Given the description of an element on the screen output the (x, y) to click on. 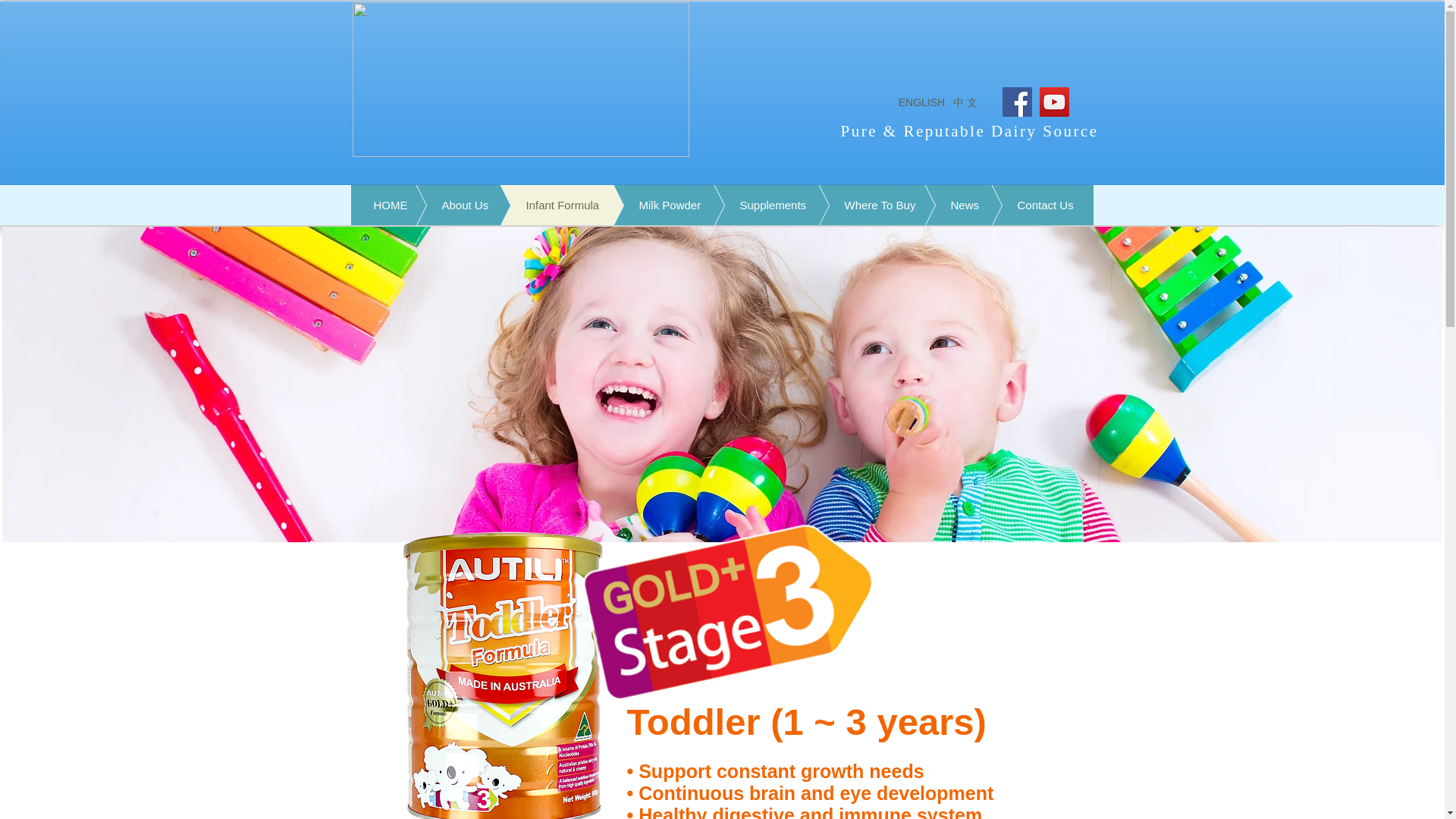
HOME (387, 205)
ENGLISH (920, 102)
Where To Buy (855, 205)
Contact Us (1021, 205)
s3-04.png (719, 576)
Infant Formula (540, 205)
Supplements (749, 205)
News (941, 205)
Milk Powder (646, 205)
About Us (440, 205)
Autili logo-01-01.png (520, 79)
